Given the description of an element on the screen output the (x, y) to click on. 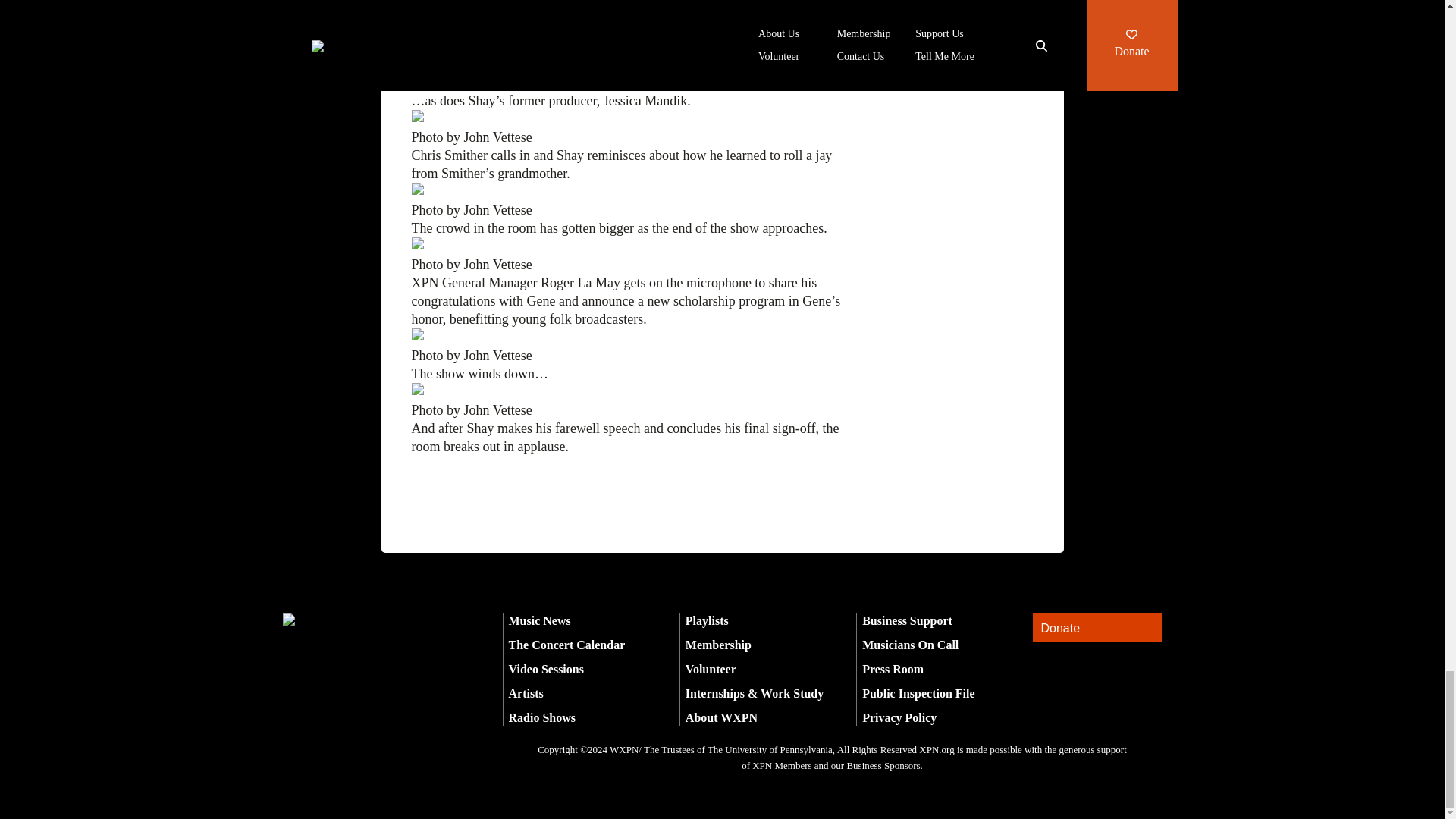
Radio Shows (541, 717)
Playlists (707, 620)
Public Inspection File (917, 693)
Artists (525, 693)
Video Sessions (545, 668)
Membership (718, 644)
Donate (1096, 627)
Music News (539, 620)
Musicians On Call (909, 644)
Press Room (892, 668)
